Given the description of an element on the screen output the (x, y) to click on. 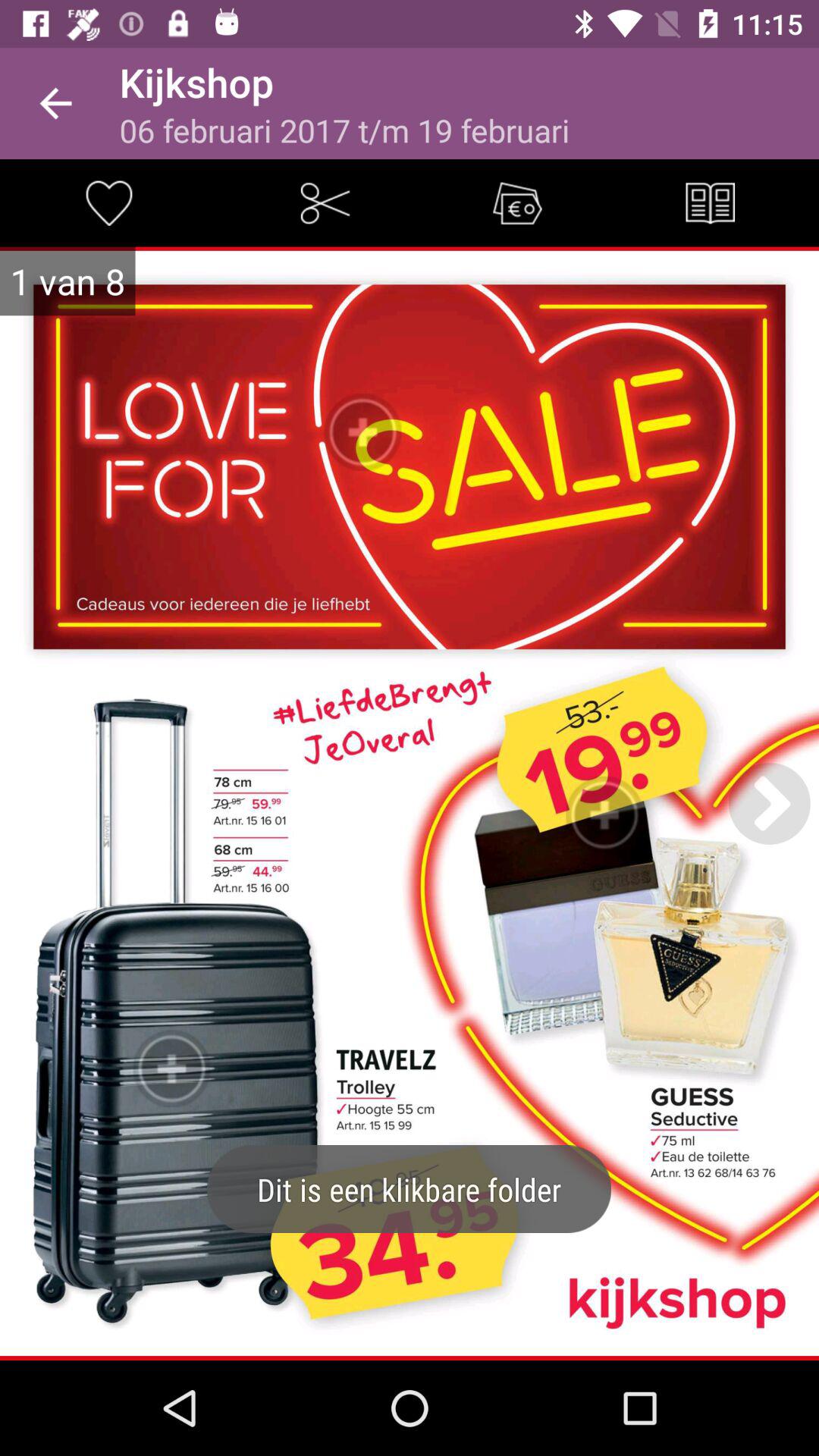
clip (324, 202)
